Given the description of an element on the screen output the (x, y) to click on. 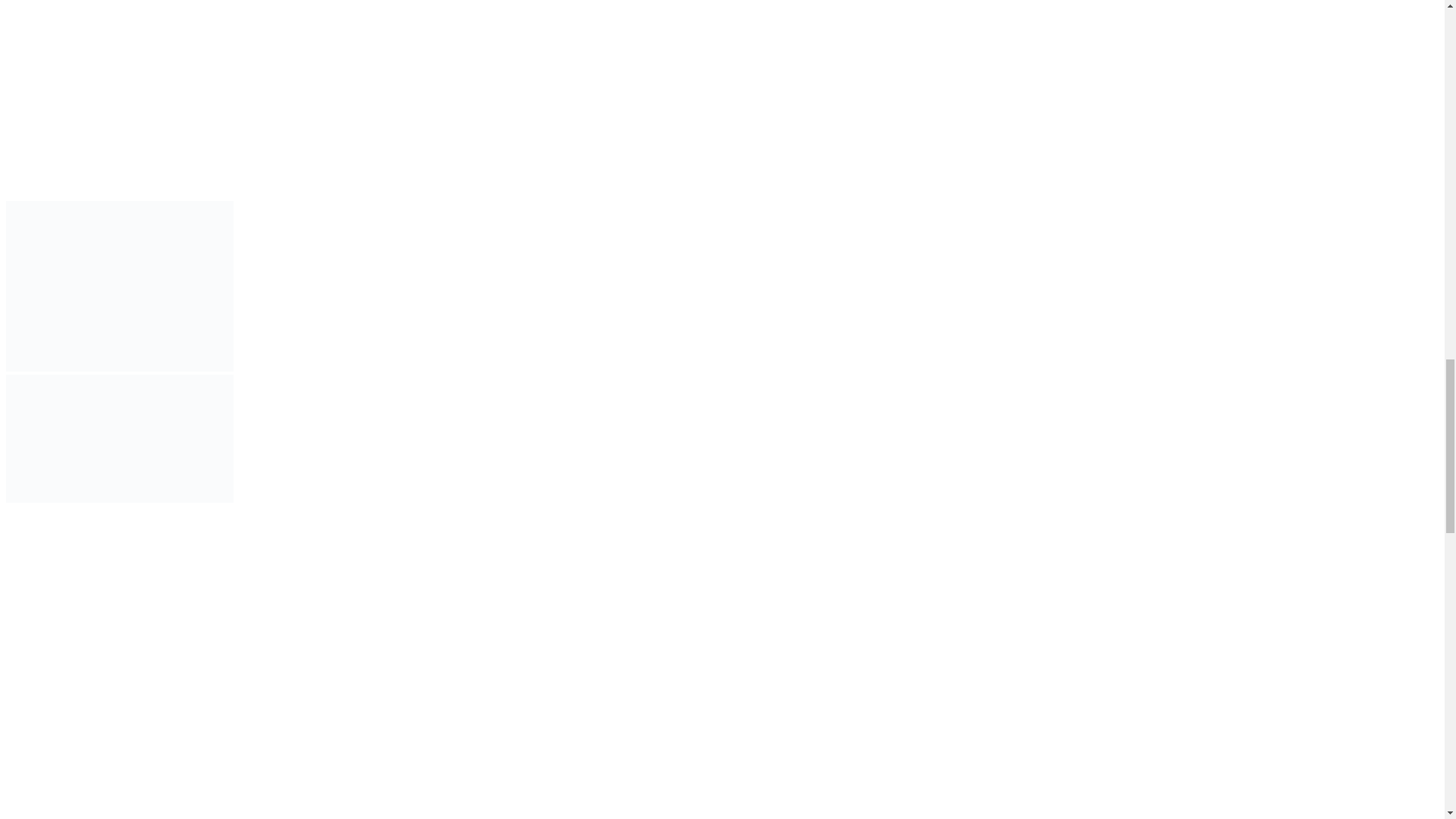
business (40, 193)
July 27, 2024 (54, 615)
July 27, 2024 (54, 806)
City Lights (443, 164)
July 27, 2024 (54, 711)
